Given the description of an element on the screen output the (x, y) to click on. 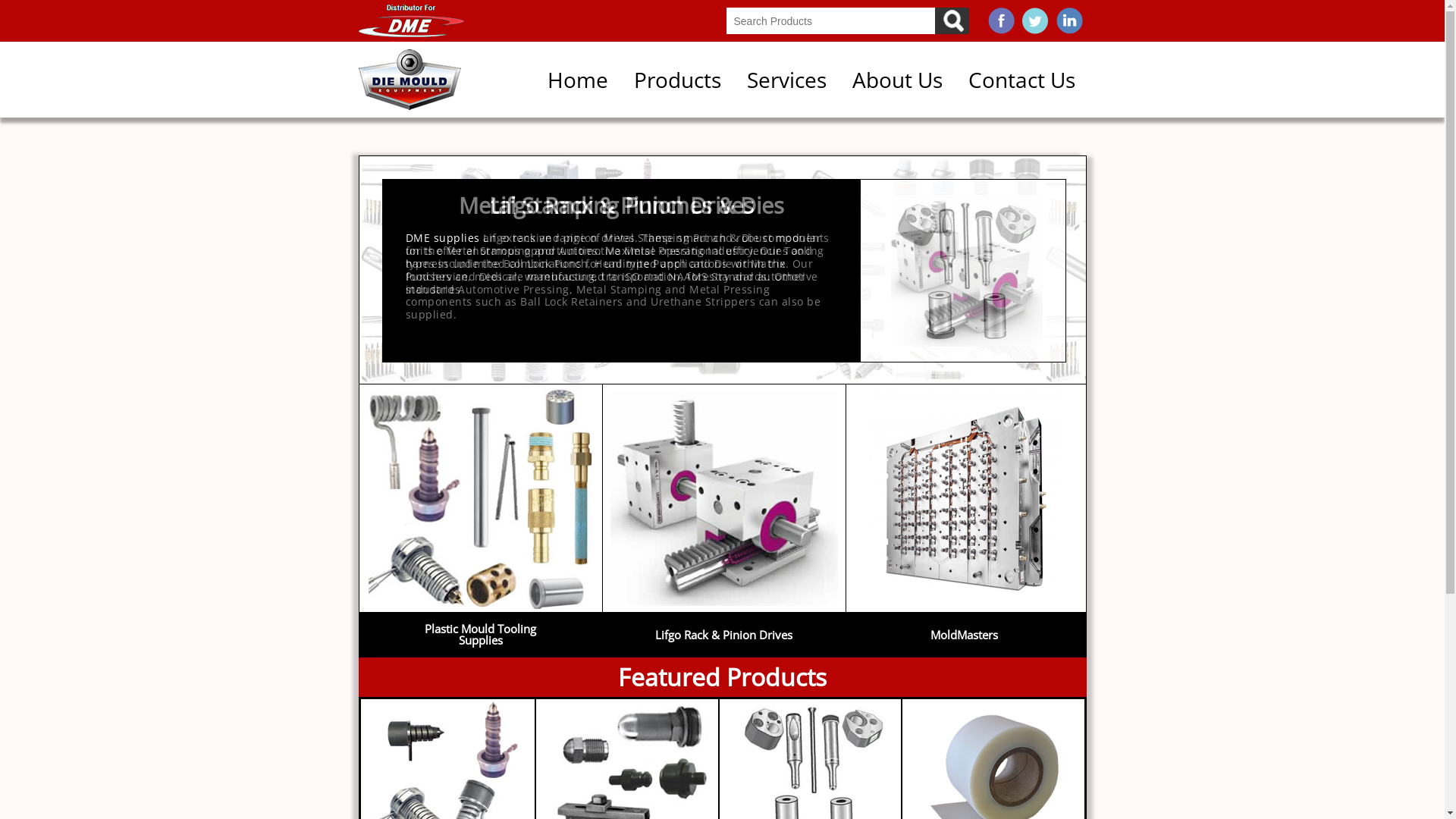
Services Element type: text (786, 79)
Home Element type: text (576, 79)
Home Element type: hover (408, 79)
DME USA website Element type: hover (410, 20)
Plastic Mould Tooling Supplies Element type: text (480, 653)
Lifgo Rack & Pinion Drives Element type: hover (723, 606)
Products Element type: text (676, 79)
Contact Us Element type: text (1021, 79)
MoldMasters Element type: text (964, 653)
Plastic Mould Tooling Supplies Element type: hover (480, 606)
Lifgo Rack & Pinion Drives Element type: text (723, 653)
MoldMasters Element type: hover (964, 606)
About Us Element type: text (896, 79)
